Given the description of an element on the screen output the (x, y) to click on. 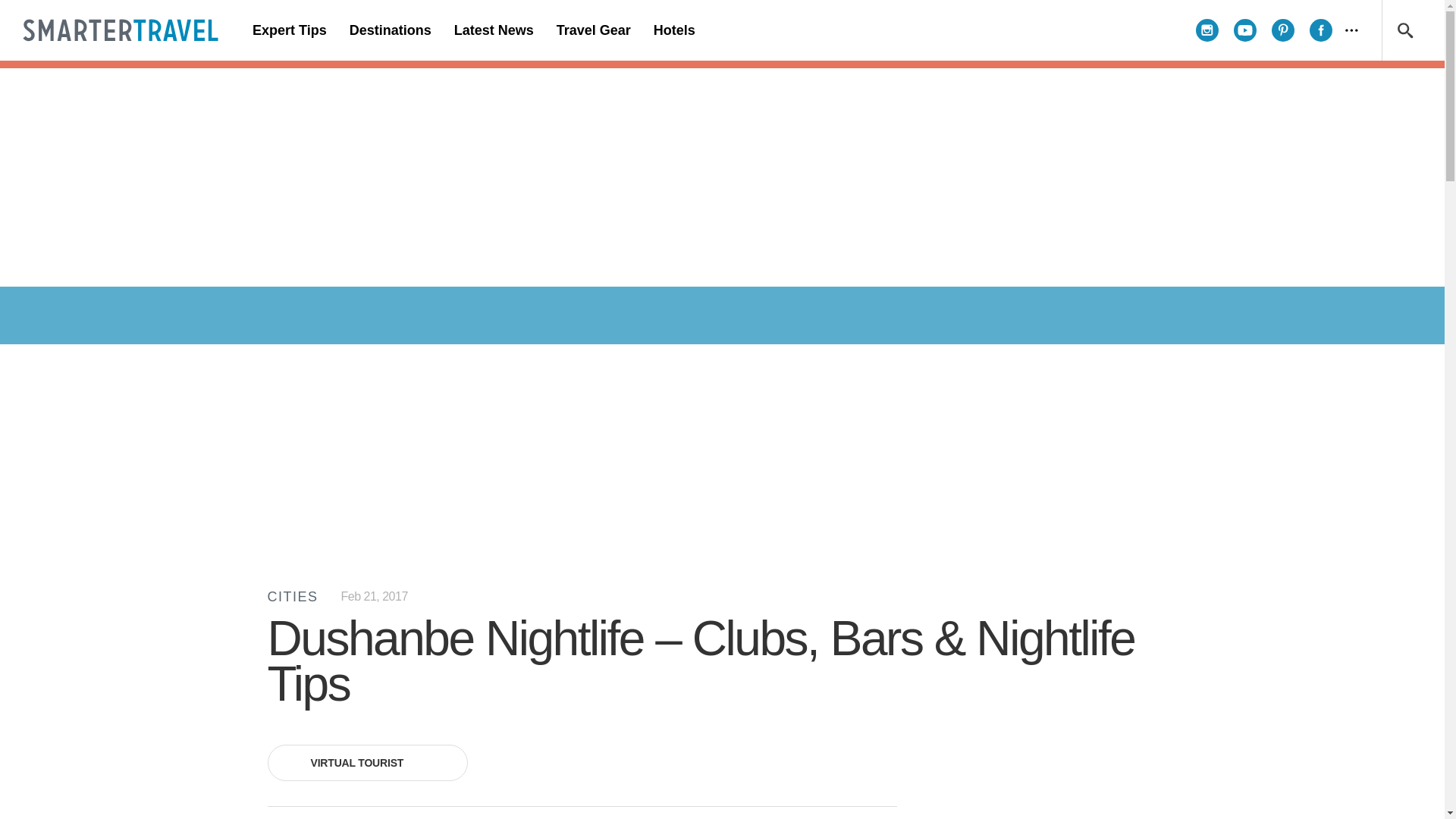
Latest News (493, 30)
Hotels (674, 30)
Destinations (389, 30)
Expert Tips (289, 30)
Travel Gear (593, 30)
